Given the description of an element on the screen output the (x, y) to click on. 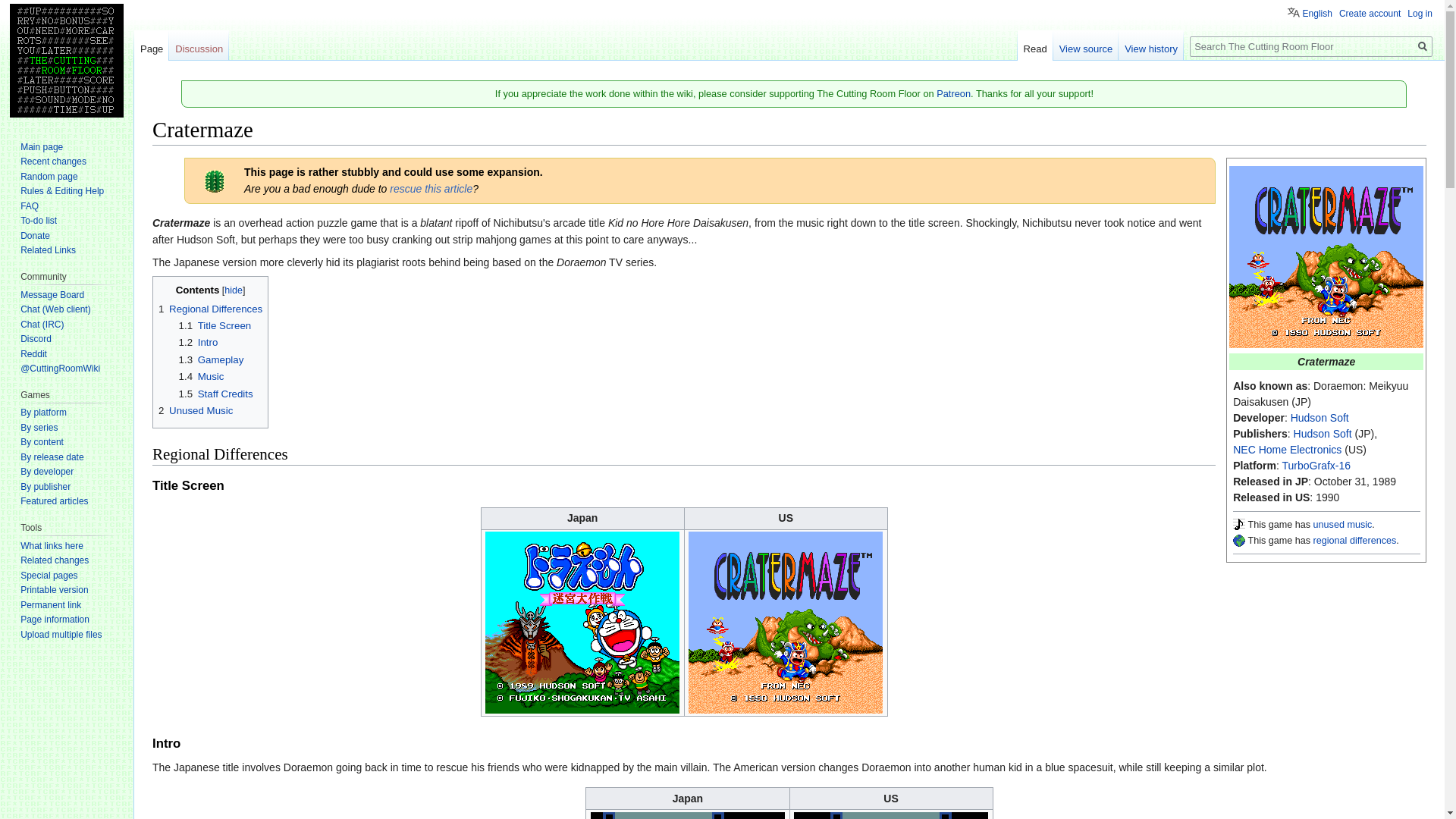
Category:Games with regional differences (1354, 540)
Go (1422, 46)
1.4 Music (201, 376)
rescue this article (430, 188)
Category:Games developed by Hudson Soft (1319, 417)
Category:Games with regional differences (1238, 540)
Category:Games with unused music (1238, 524)
NEC Home Electronics (1286, 449)
Hudson Soft (1323, 433)
1.2 Intro (198, 342)
